Given the description of an element on the screen output the (x, y) to click on. 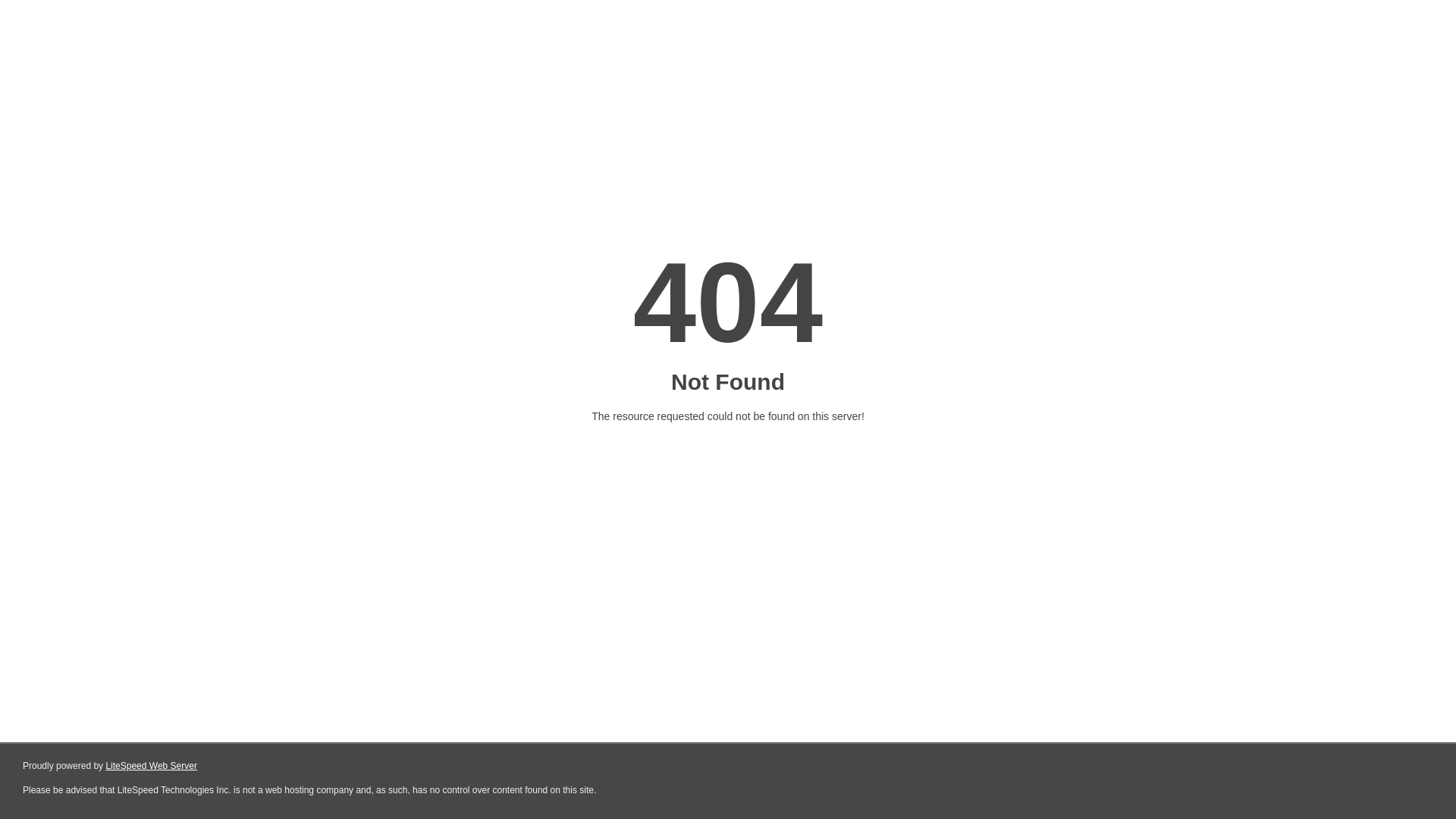
LiteSpeed Web Server Element type: text (151, 765)
